Given the description of an element on the screen output the (x, y) to click on. 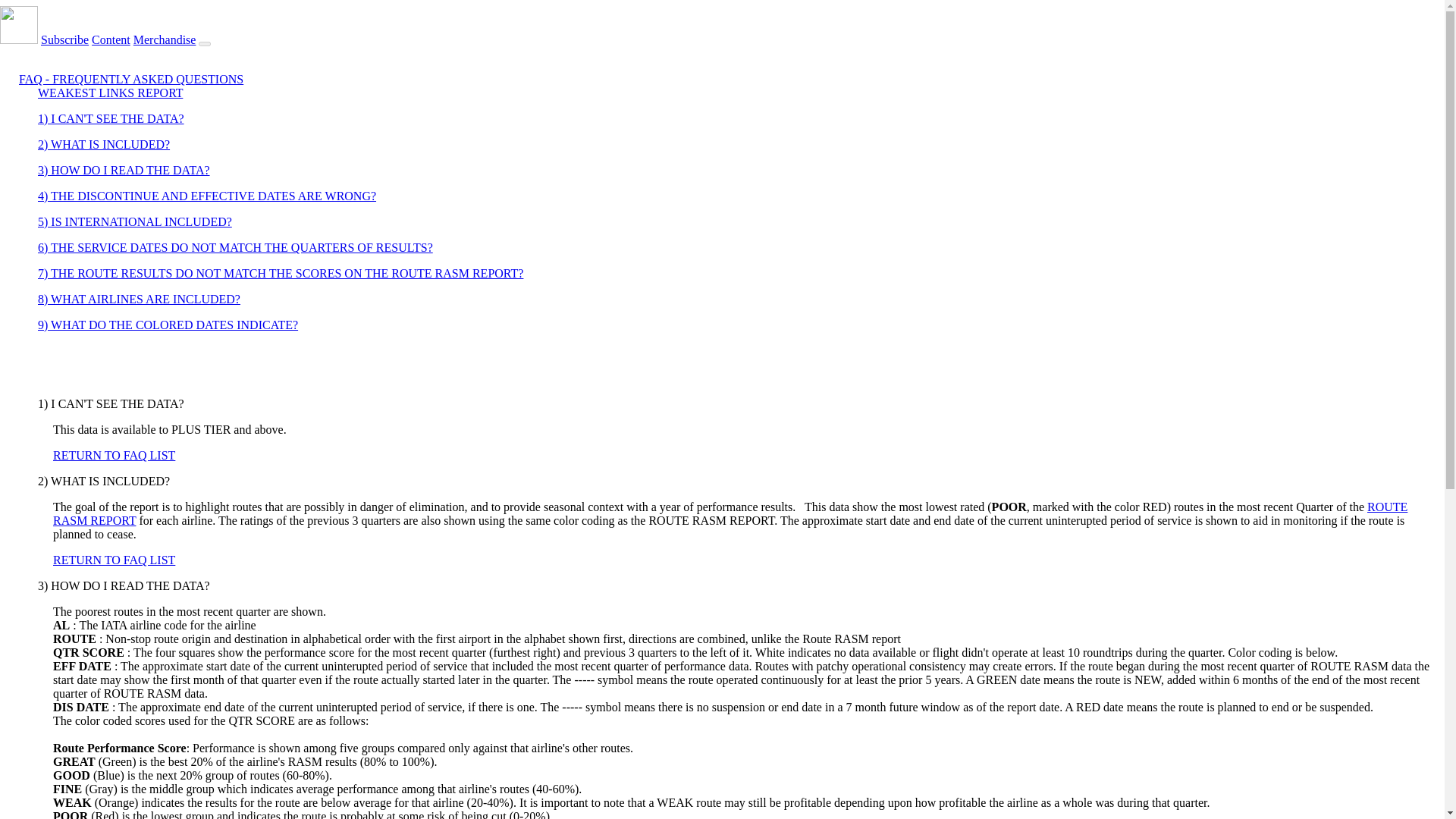
Content (111, 39)
RETURN TO FAQ LIST (113, 454)
Merchandise (164, 39)
FAQ - FREQUENTLY ASKED QUESTIONS (130, 78)
WEAKEST LINKS REPORT (110, 92)
Subscribe (64, 39)
RETURN TO FAQ LIST (113, 559)
ROUTE RASM REPORT (729, 513)
